Given the description of an element on the screen output the (x, y) to click on. 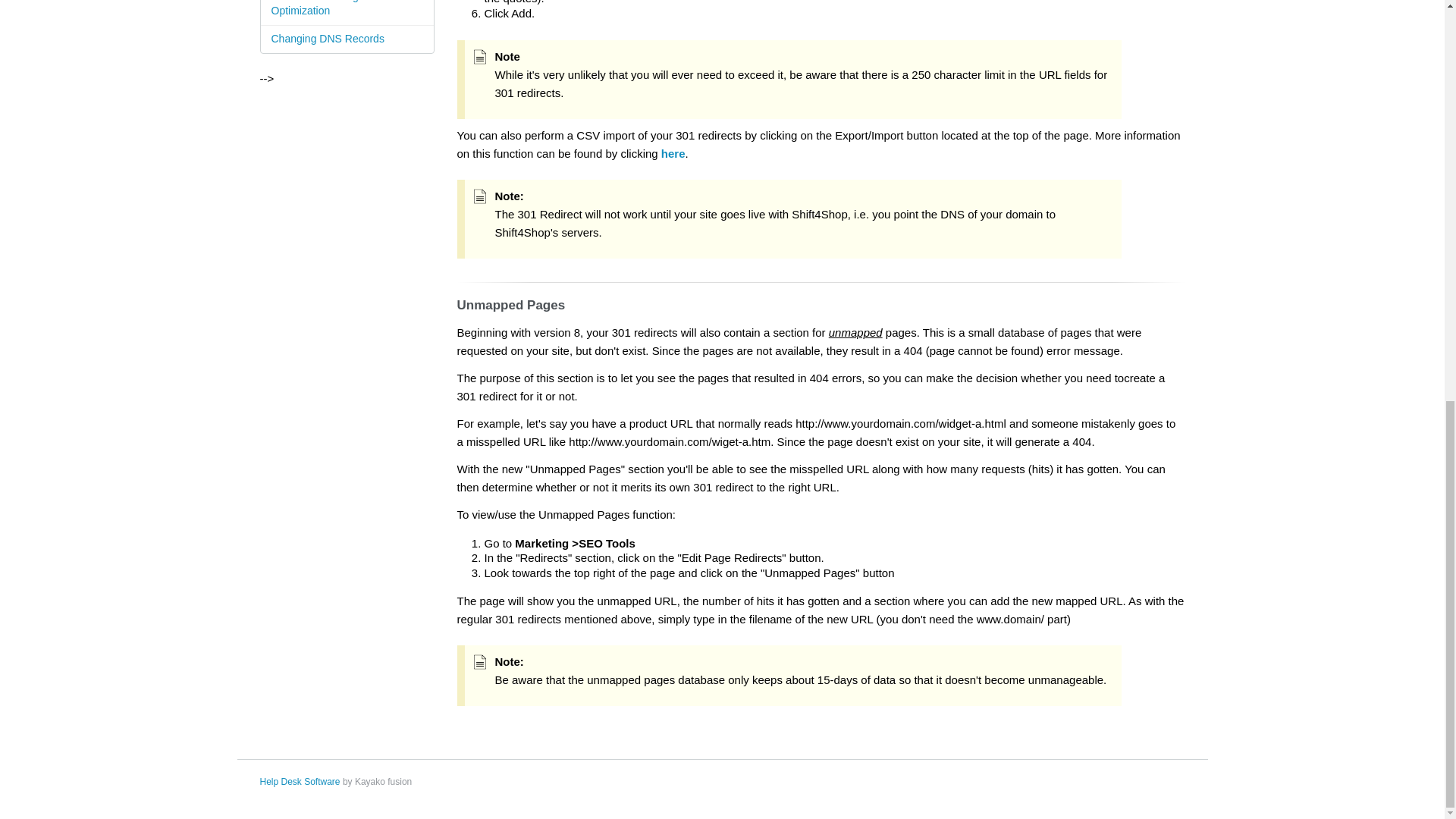
here (673, 153)
SEO - Search Engine Optimization (346, 12)
Help Desk Software (299, 781)
Changing DNS Records (346, 39)
